Given the description of an element on the screen output the (x, y) to click on. 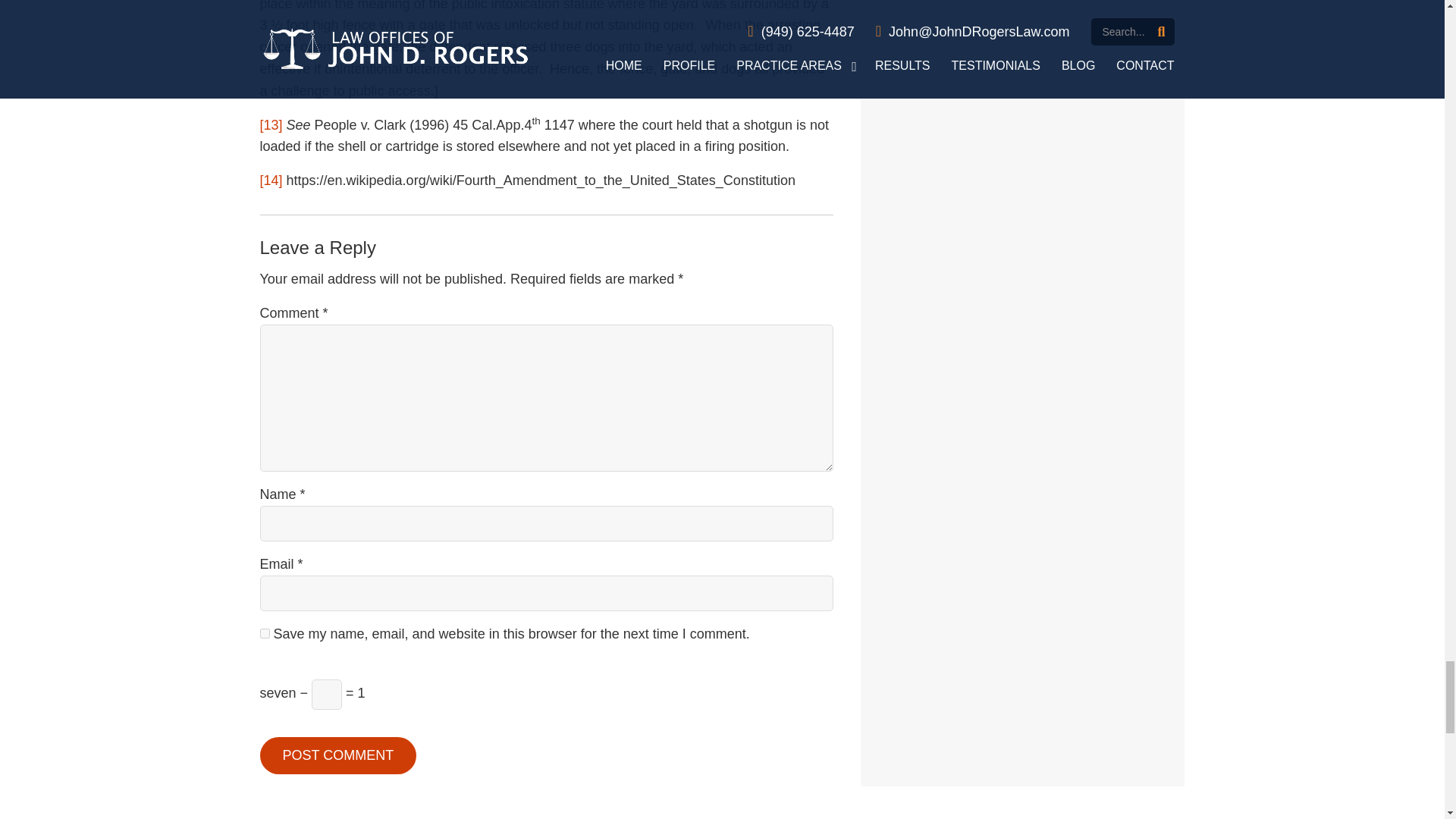
yes (264, 633)
Post Comment (337, 755)
